Given the description of an element on the screen output the (x, y) to click on. 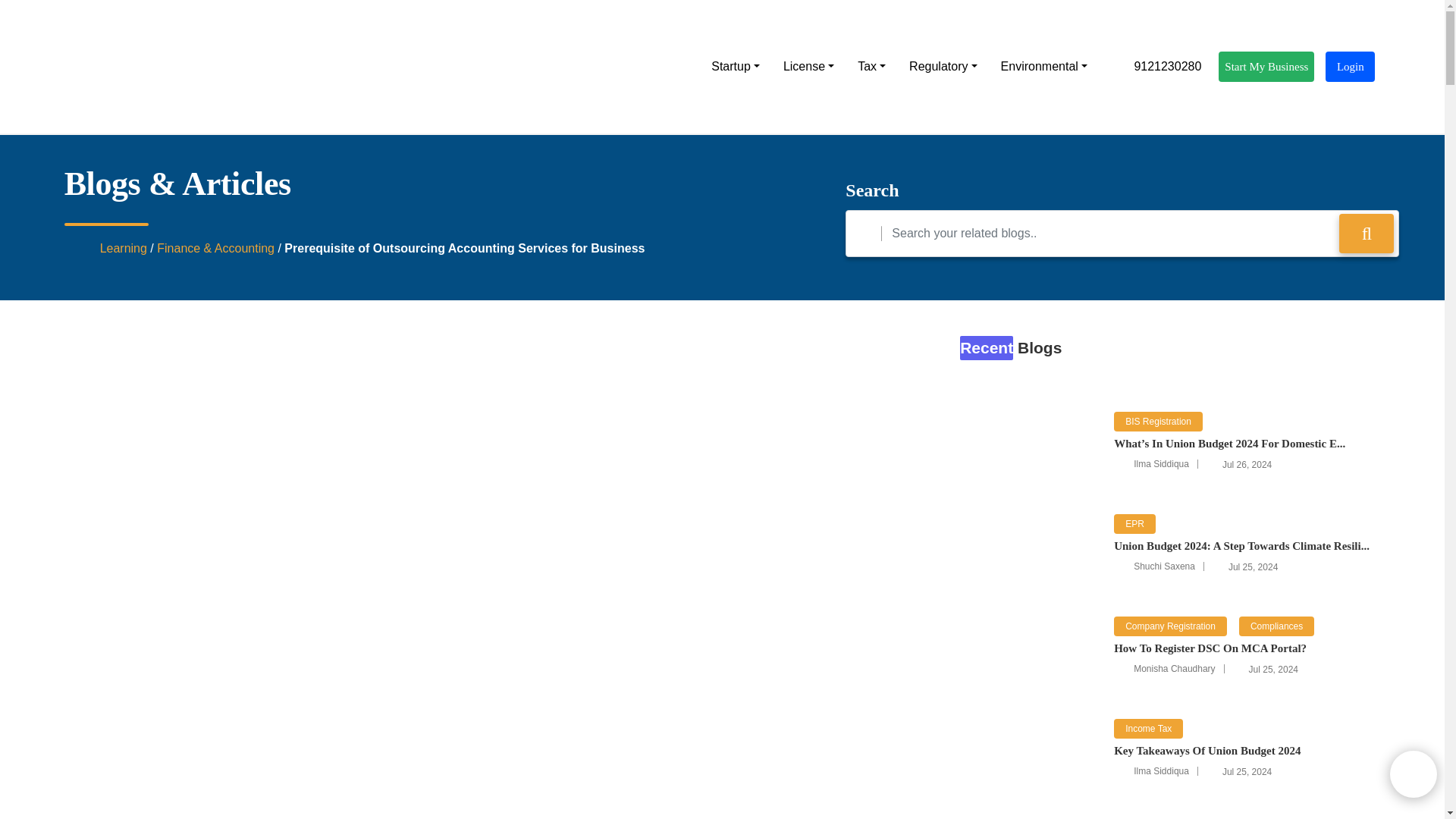
Posts by Ilma Siddiqua (1161, 463)
Startup (734, 66)
